Given the description of an element on the screen output the (x, y) to click on. 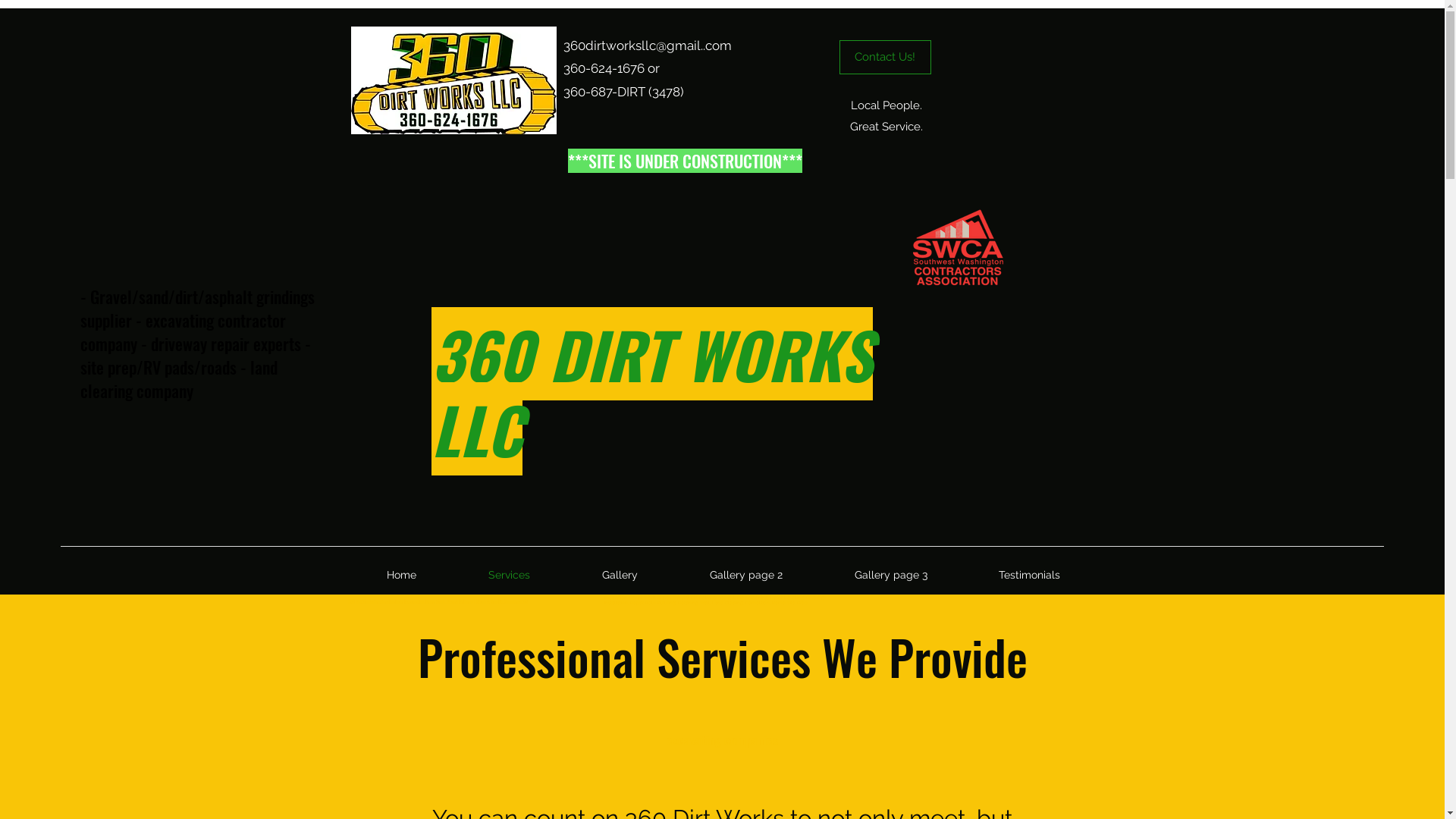
Testimonials Element type: text (1029, 574)
Services Element type: text (508, 574)
Gallery page 2 Element type: text (745, 574)
Gallery page 3 Element type: text (891, 574)
Contact Us! Element type: text (884, 57)
BBB accredited 360 Dirt Works A+ rating Element type: hover (462, 237)
Home Element type: text (400, 574)
360dirtworksllc@gmail..com Element type: text (646, 45)
Gallery Element type: text (619, 574)
